Given the description of an element on the screen output the (x, y) to click on. 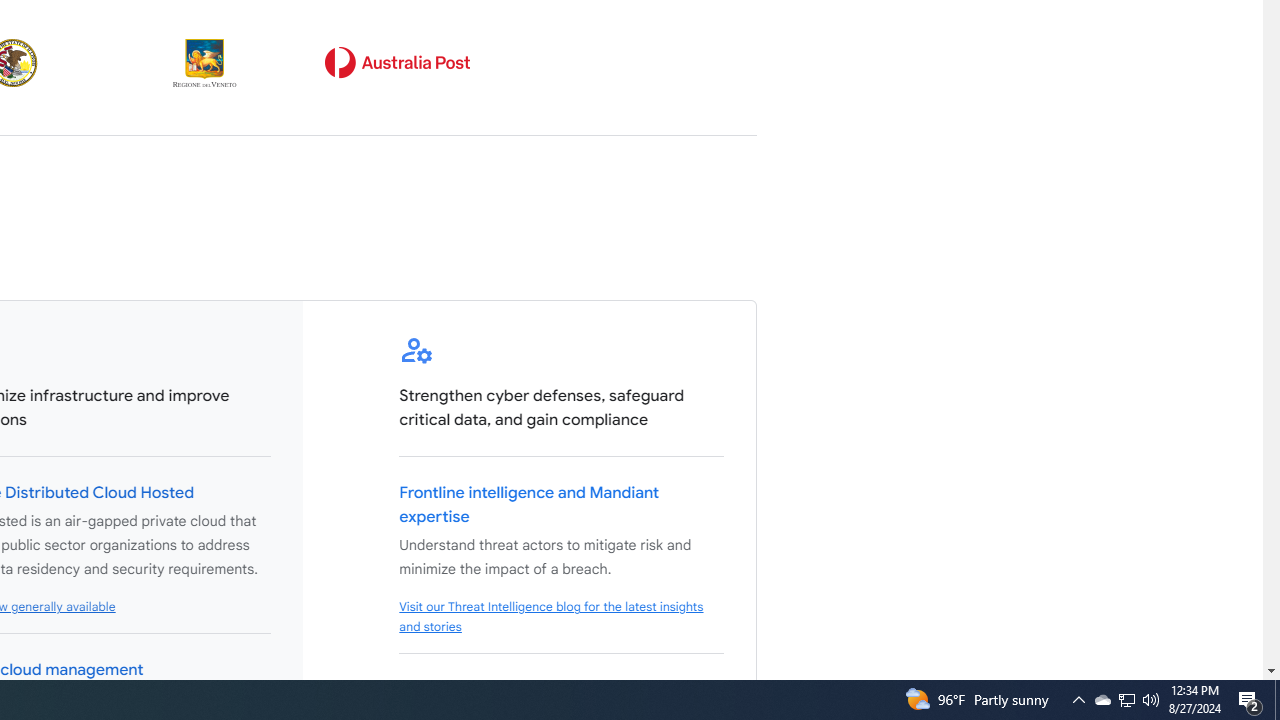
Australia Post (397, 62)
Regione Veneto (205, 62)
Frontline intelligence and Mandiant expertise (529, 505)
